Given the description of an element on the screen output the (x, y) to click on. 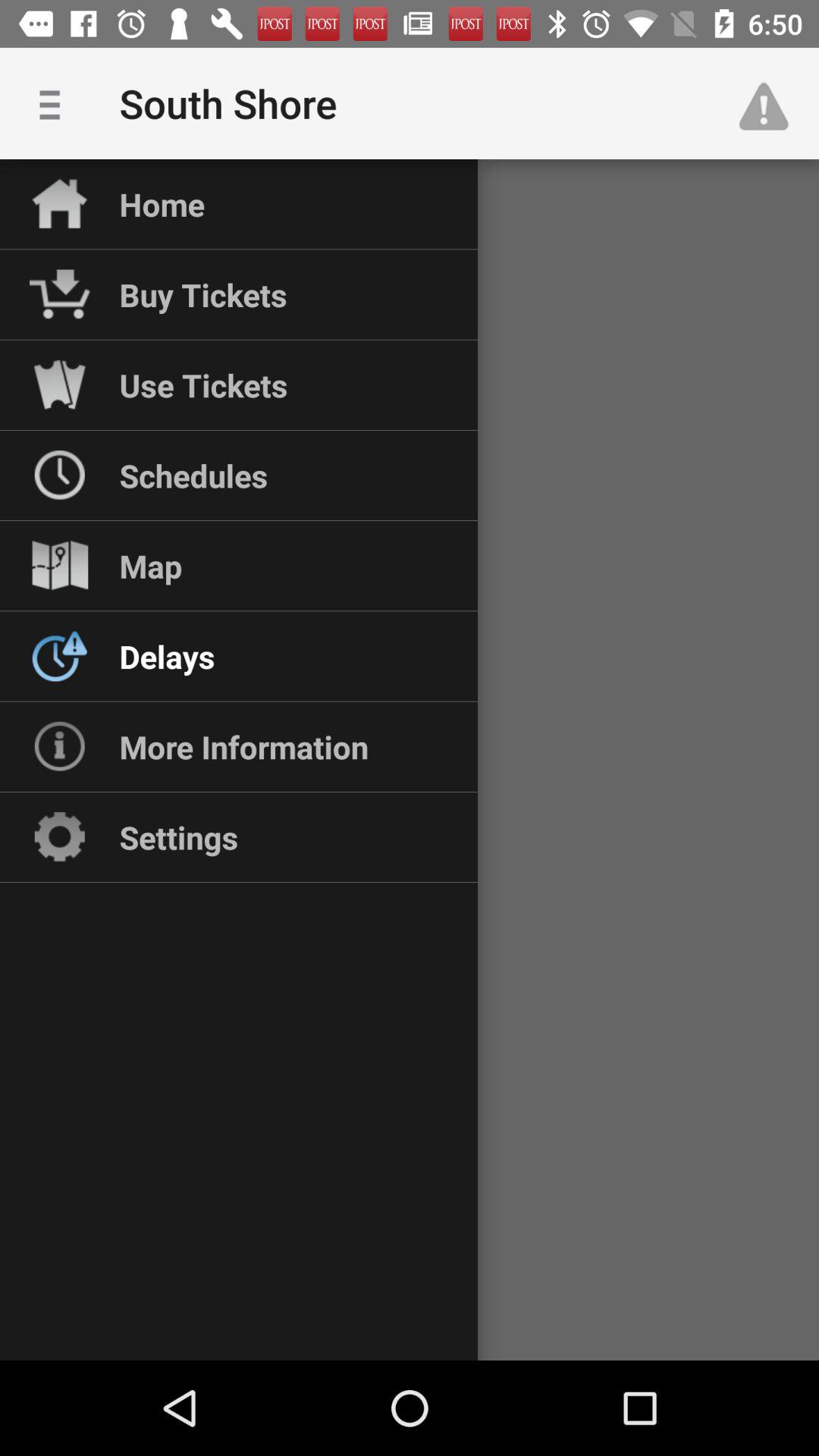
select settings icon (178, 837)
